Given the description of an element on the screen output the (x, y) to click on. 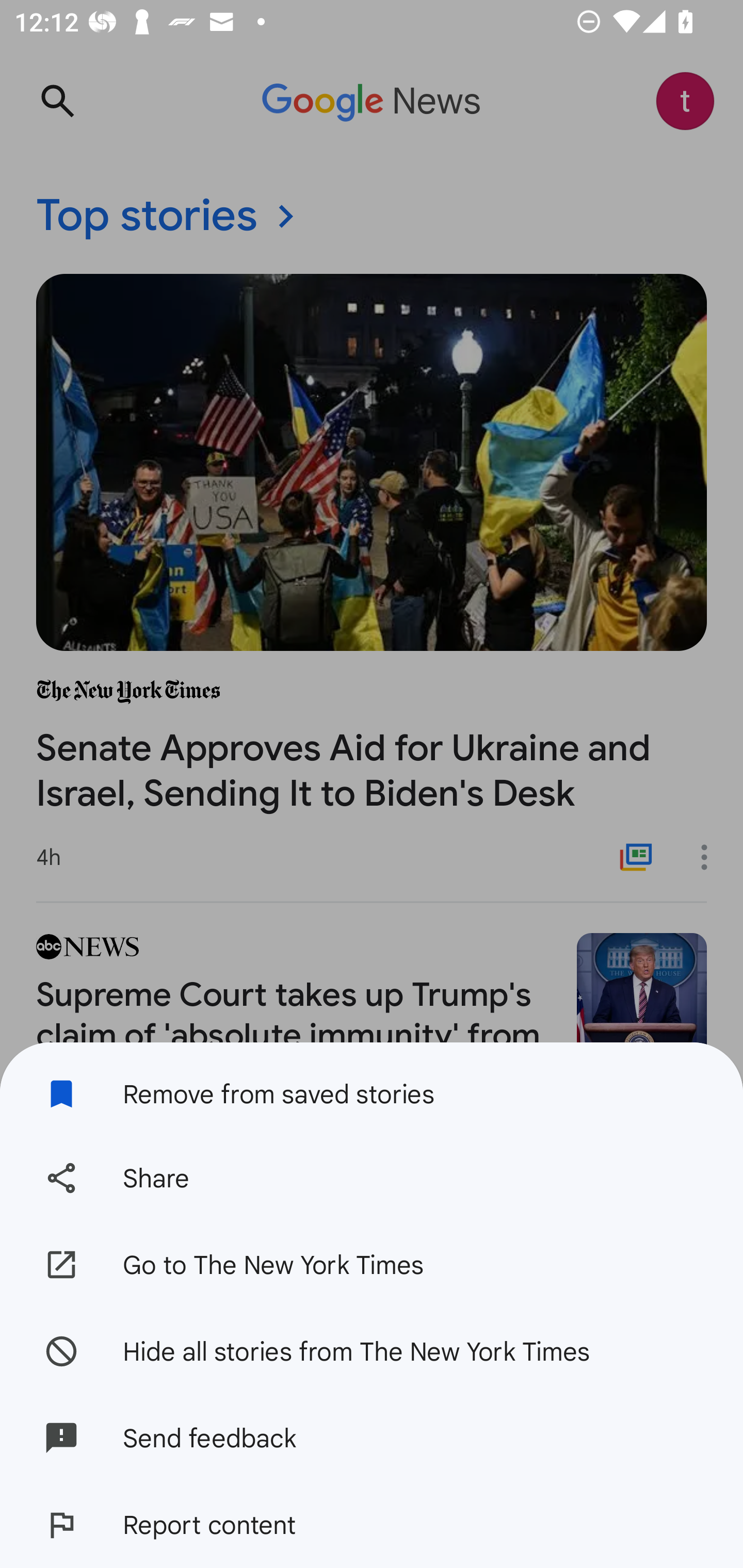
Remove from saved stories (371, 1088)
Share (371, 1178)
Go to The New York Times (371, 1264)
Hide all stories from The New York Times (371, 1350)
Send feedback (371, 1437)
Report content (371, 1524)
